Given the description of an element on the screen output the (x, y) to click on. 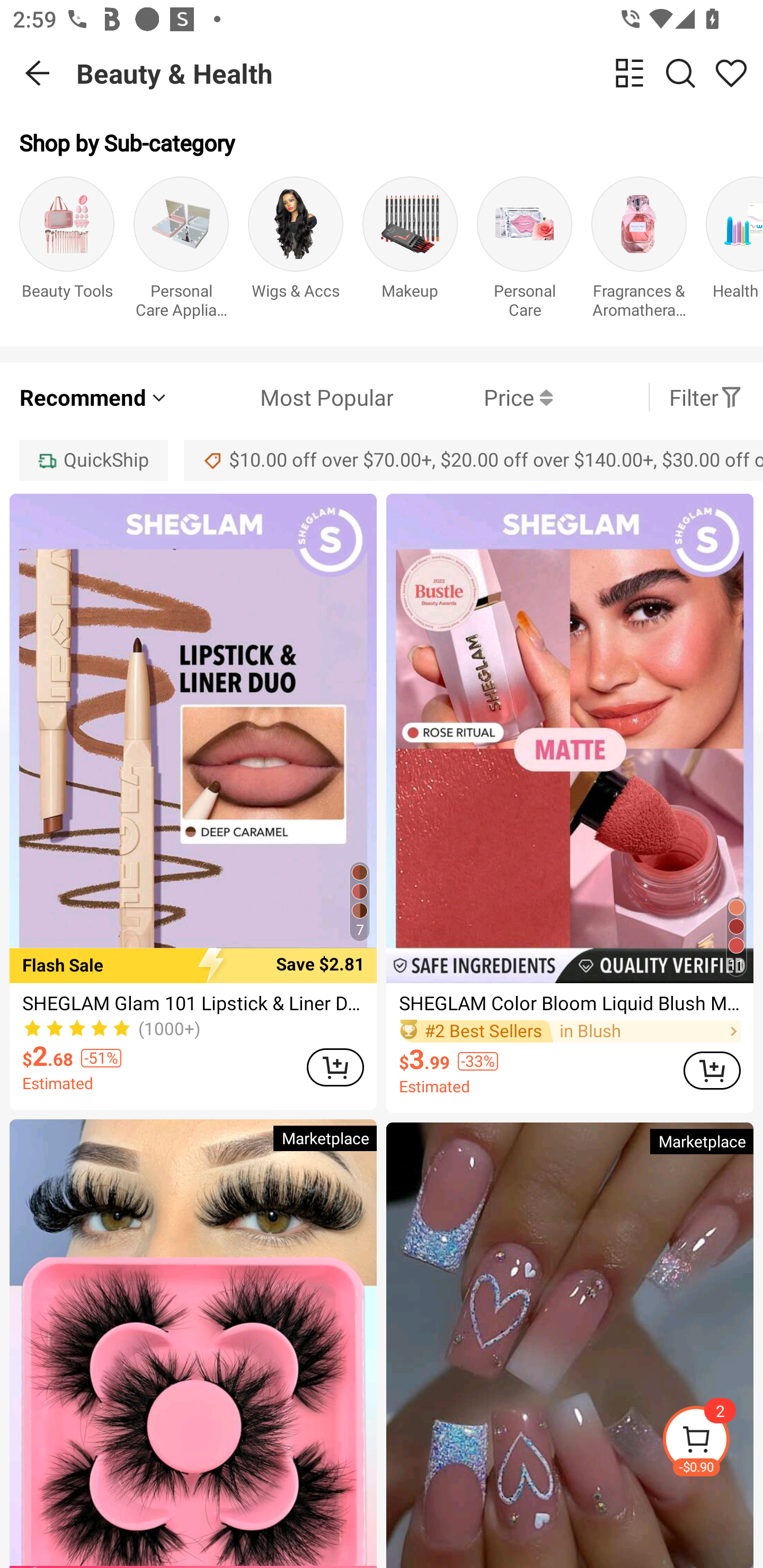
Beauty & Health change view Search Share (419, 72)
change view (629, 72)
Search (679, 72)
Share (730, 72)
Beauty Tools (66, 251)
Personal Care Appliance (180, 251)
Wigs & Accs (295, 251)
Makeup (409, 251)
Personal Care (524, 251)
Fragrances & Aromatherapy (638, 251)
Recommend (94, 397)
Most Popular (280, 397)
Price (472, 397)
Filter (705, 397)
QuickShip (93, 460)
#2 Best Sellers in Blush (569, 1031)
ADD TO CART (334, 1067)
ADD TO CART (711, 1070)
-$0.90 (712, 1441)
